Given the description of an element on the screen output the (x, y) to click on. 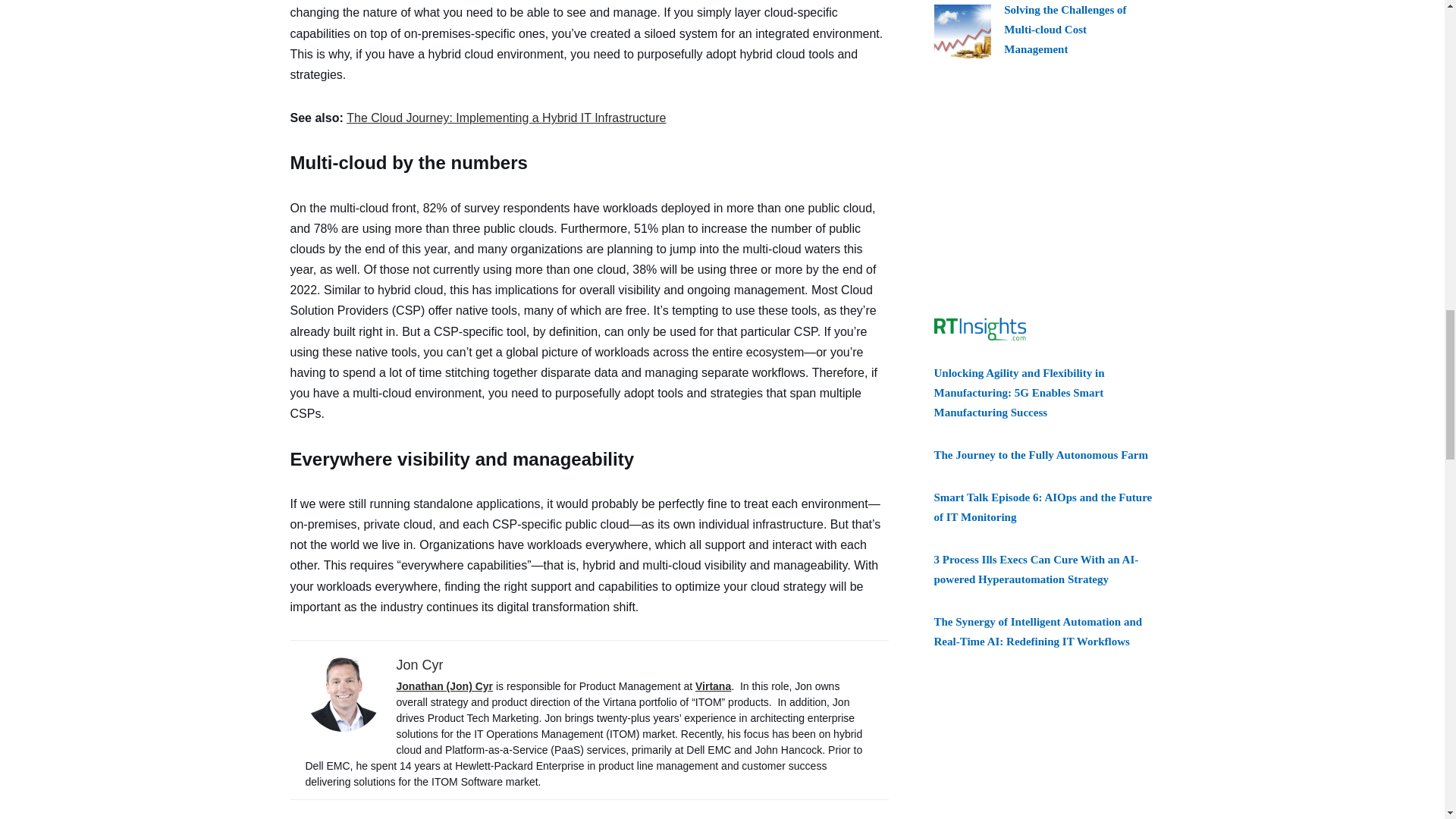
The Cloud Journey: Implementing a Hybrid IT Infrastructure (505, 117)
Virtana (712, 686)
Jon Cyr (419, 664)
